Given the description of an element on the screen output the (x, y) to click on. 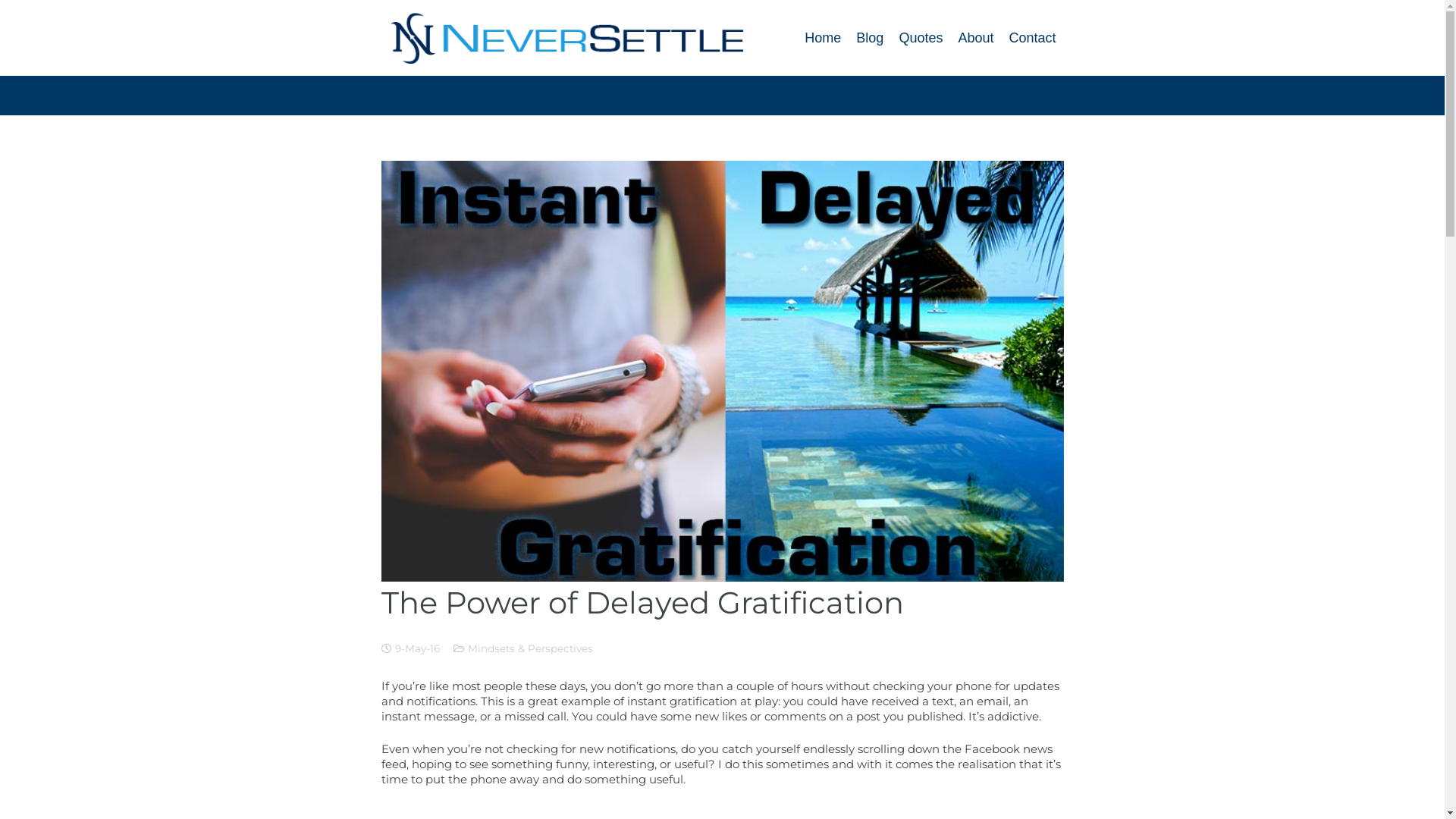
Mindsets & Perspectives Element type: text (530, 648)
Contact Element type: text (1032, 37)
Quotes Element type: text (920, 37)
Home Element type: text (822, 37)
Blog Element type: text (869, 37)
About Element type: text (975, 37)
